Given the description of an element on the screen output the (x, y) to click on. 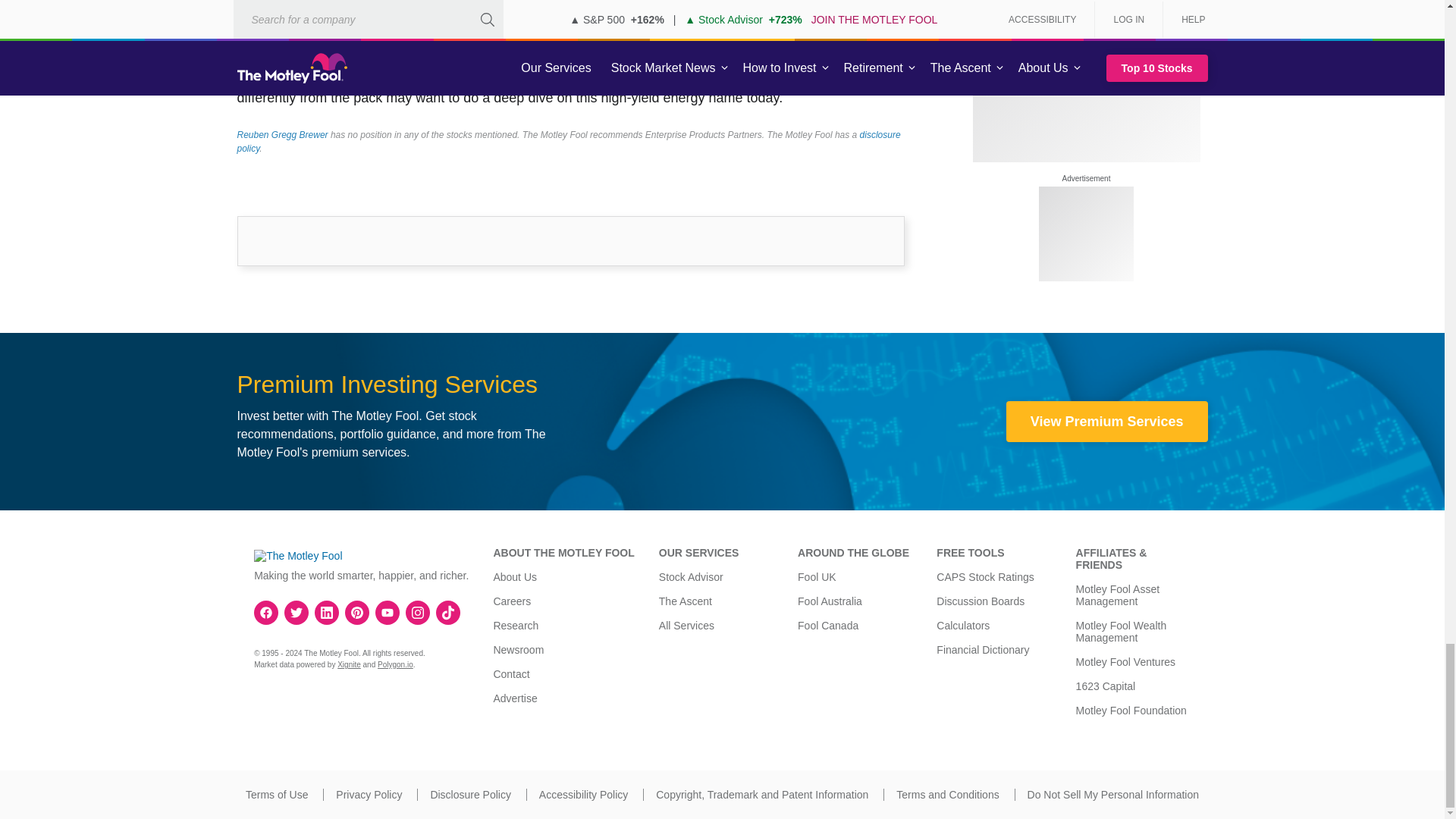
Terms and Conditions (947, 794)
Copyright, Trademark and Patent Information (761, 794)
Disclosure Policy (470, 794)
Accessibility Policy (582, 794)
Privacy Policy (368, 794)
Terms of Use (276, 794)
Do Not Sell My Personal Information. (1112, 794)
